Given the description of an element on the screen output the (x, y) to click on. 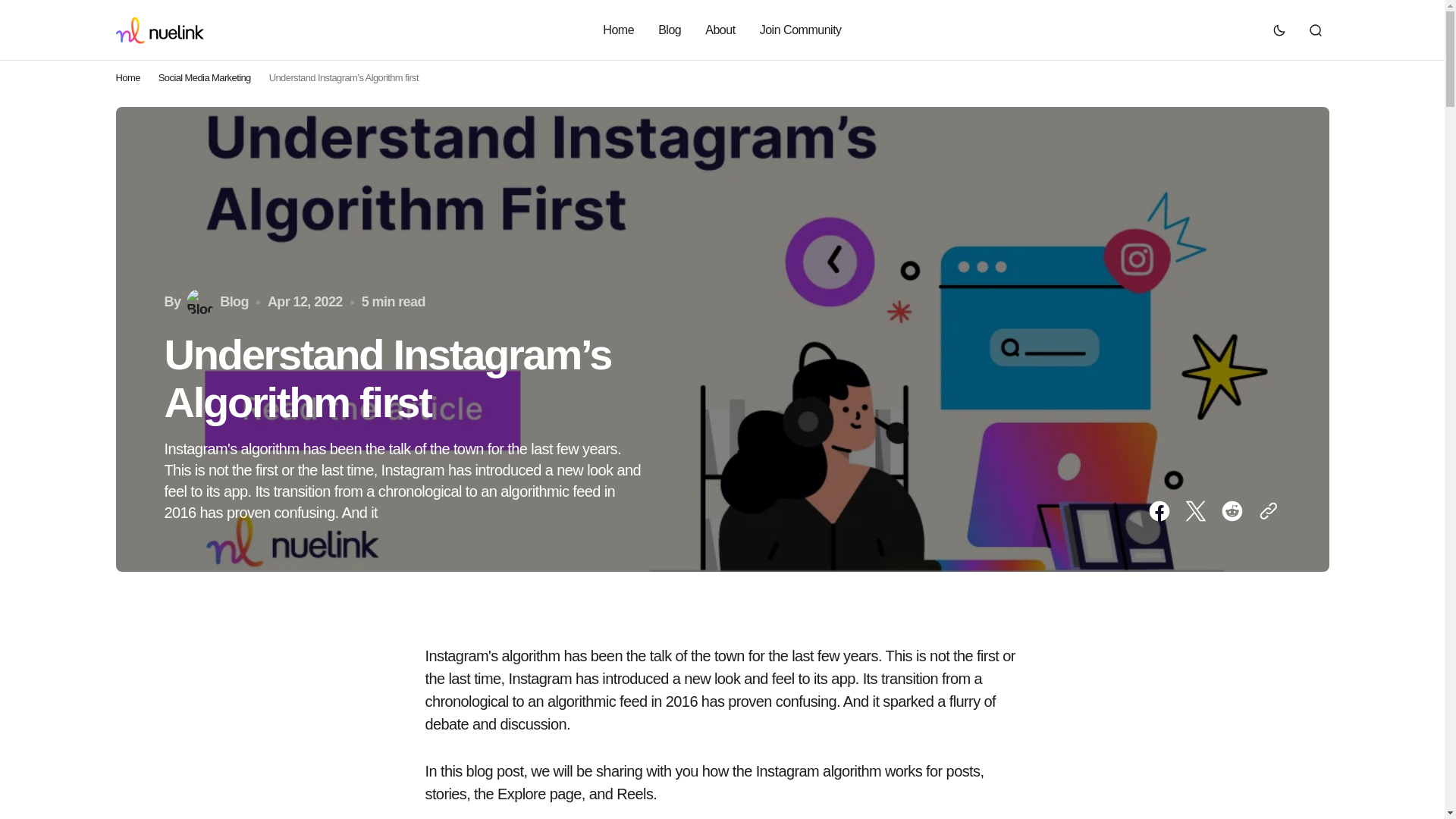
Search button (1314, 30)
Join Community (800, 29)
About (719, 29)
Social Media Marketing (204, 77)
Blog (217, 302)
Home (617, 29)
Blog (669, 29)
Home (127, 77)
